Given the description of an element on the screen output the (x, y) to click on. 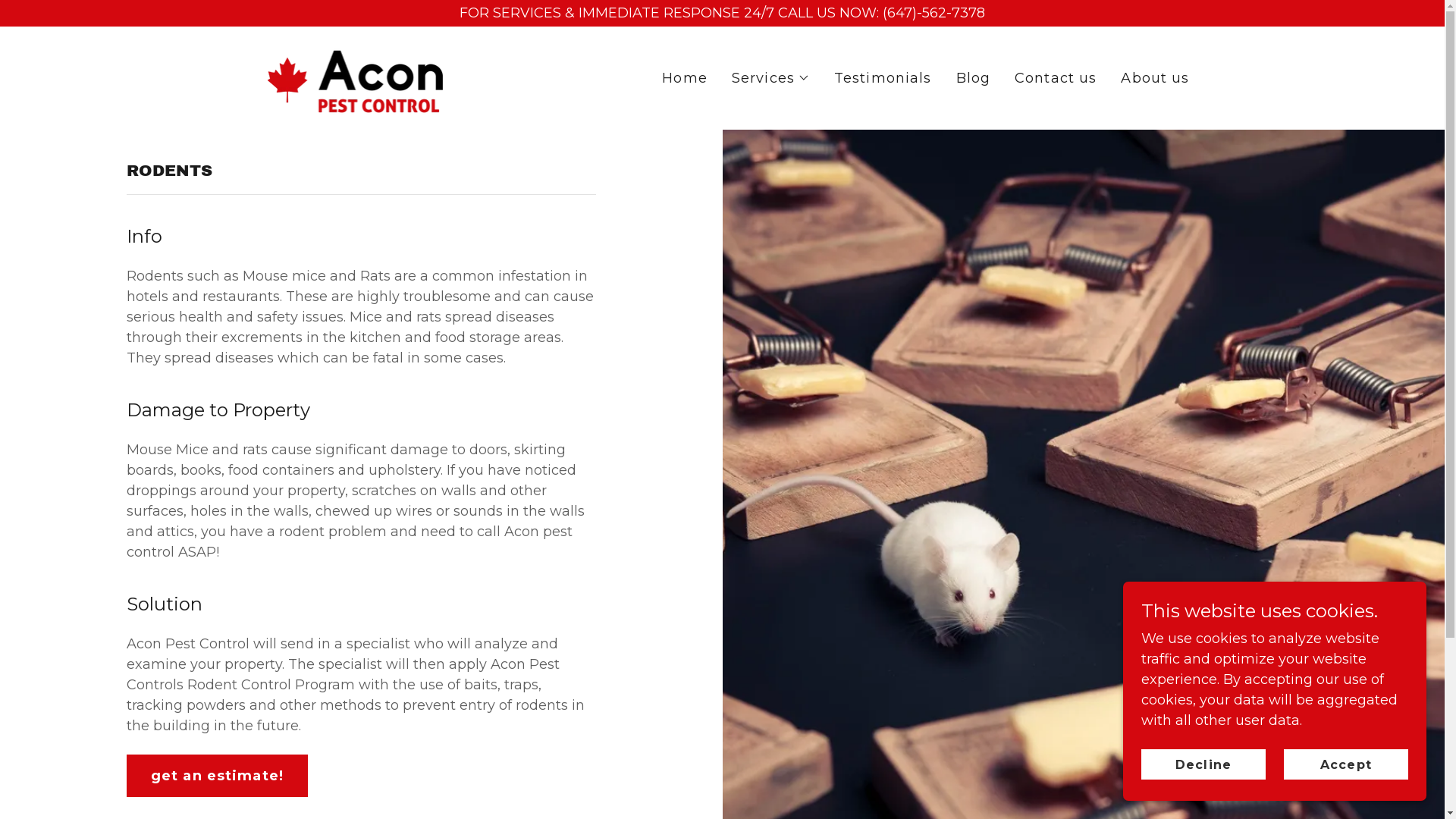
Services Element type: text (770, 78)
get an estimate! Element type: text (216, 775)
Blog Element type: text (973, 77)
About us Element type: text (1154, 77)
Decline Element type: text (1203, 764)
Acon Pest Control Element type: hover (351, 77)
Contact us Element type: text (1055, 77)
Accept Element type: text (1345, 764)
Testimonials Element type: text (882, 77)
Home Element type: text (684, 77)
